Given the description of an element on the screen output the (x, y) to click on. 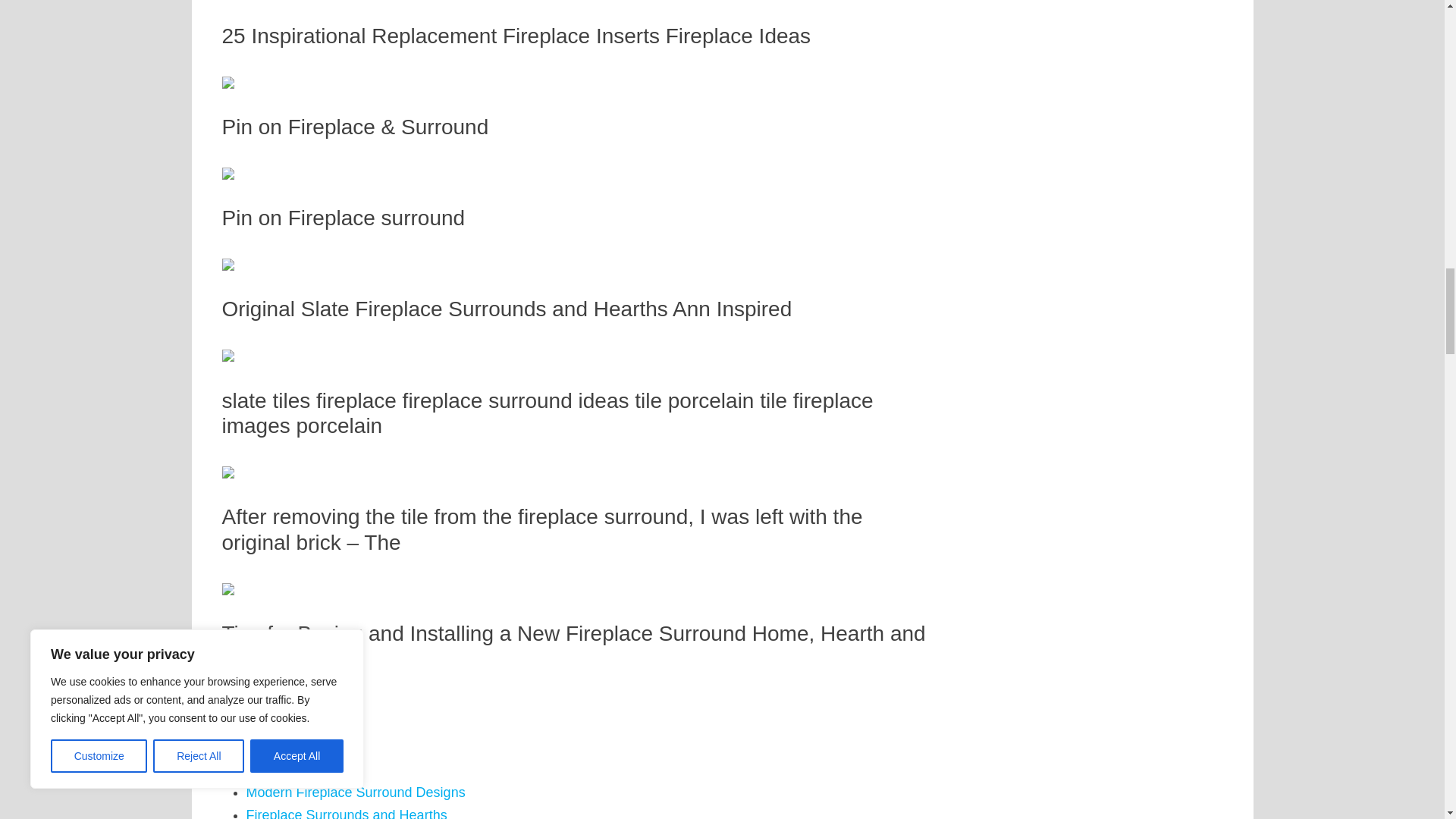
Foam Fireplace Surround (323, 497)
Mission Fireplace Surround (329, 543)
Christmas Fireplace Surround Decor (356, 474)
Fireplace Surround Facing (326, 381)
Fireplace Surrounds Derby (327, 427)
Easy Fireplace Surround (321, 520)
Pearl Fireplace Surround (321, 566)
Free Standing Fireplace Surround (348, 450)
Fireplace Surround with Storage (343, 404)
Fireplace Surrounds and Hearths (346, 358)
